Given the description of an element on the screen output the (x, y) to click on. 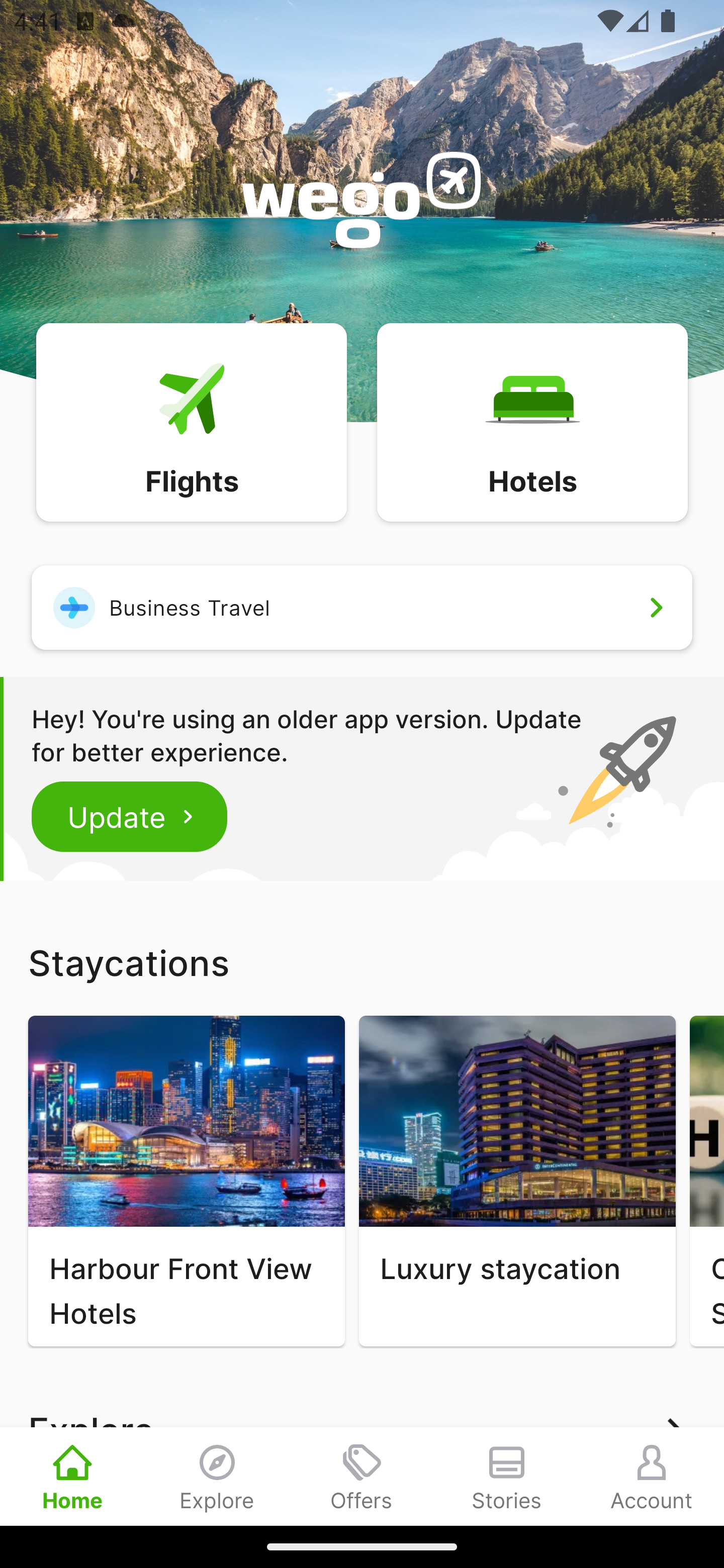
Flights (191, 420)
Hotels (532, 420)
Business Travel (361, 607)
Update (129, 815)
Staycations (362, 962)
Harbour Front View Hotels (186, 1181)
Luxury staycation (517, 1181)
Explore (216, 1475)
Offers (361, 1475)
Stories (506, 1475)
Account (651, 1475)
